Given the description of an element on the screen output the (x, y) to click on. 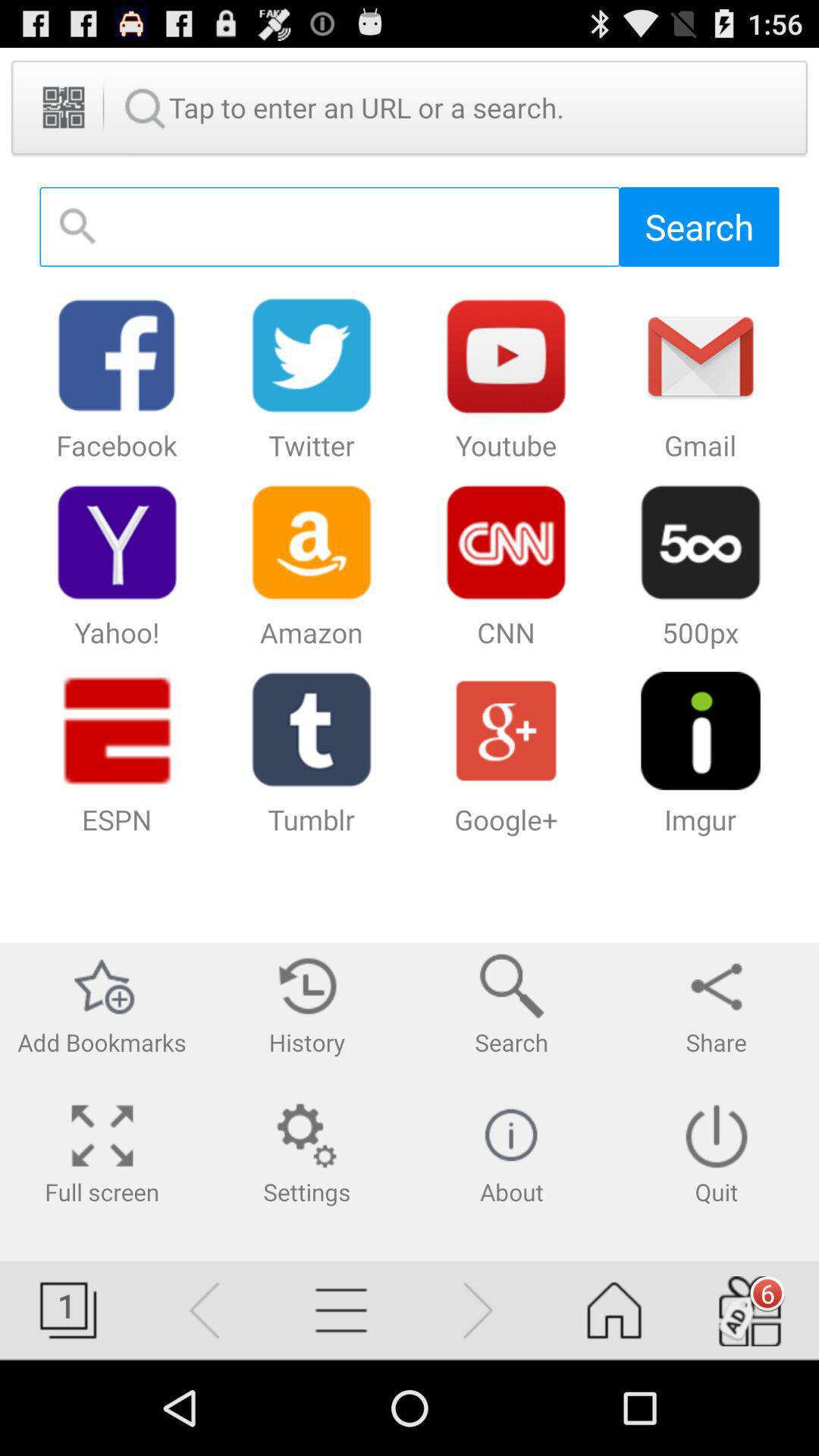
enter search terms (329, 226)
